Given the description of an element on the screen output the (x, y) to click on. 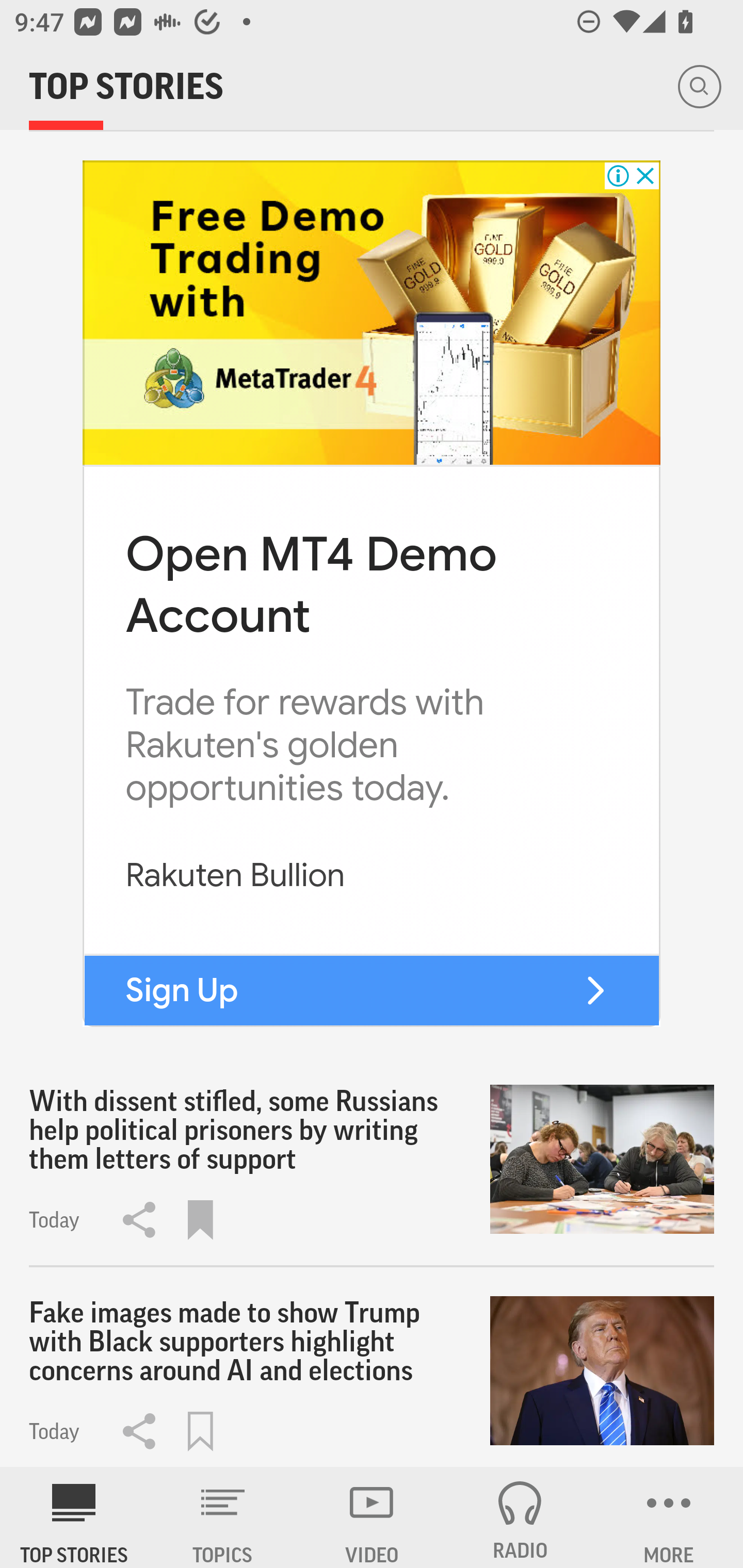
Open MT4 Demo Account Open MT4 Demo Account (310, 584)
Rakuten Bullion (235, 874)
Sign Up (181, 989)
AP News TOP STORIES (74, 1517)
TOPICS (222, 1517)
VIDEO (371, 1517)
RADIO (519, 1517)
MORE (668, 1517)
